Given the description of an element on the screen output the (x, y) to click on. 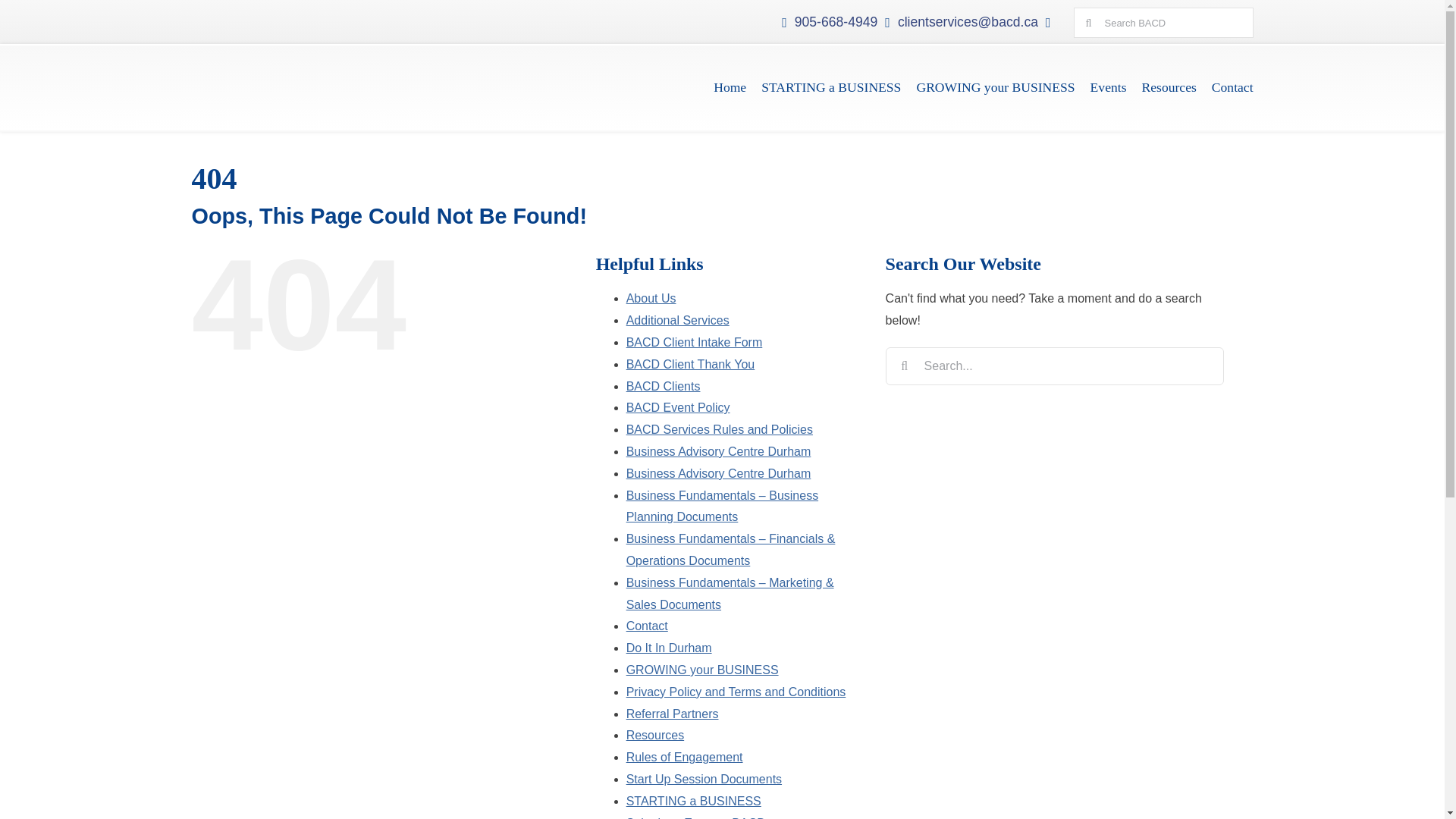
BACD Event Policy (678, 407)
GROWING your BUSINESS (994, 87)
Contact (647, 625)
Business Advisory Centre Durham (718, 472)
BACD Client Thank You (690, 364)
STARTING a BUSINESS (831, 87)
Rules of Engagement (684, 757)
Referral Partners (672, 713)
BACD Services Rules and Policies (719, 429)
BACD Client Intake Form (694, 341)
